Given the description of an element on the screen output the (x, y) to click on. 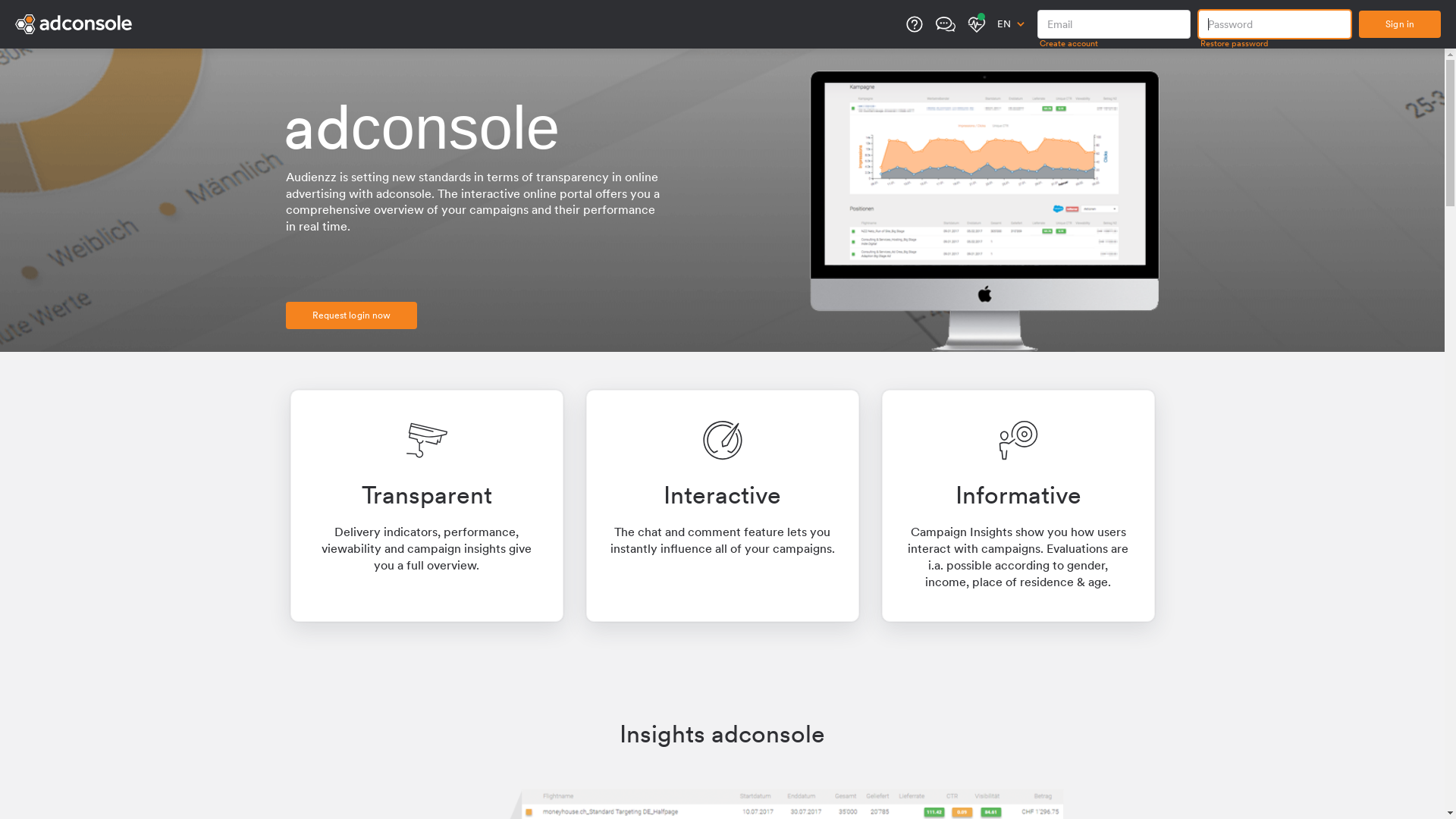
All Systems Operational Element type: text (1395, 801)
Sign in Element type: text (1399, 23)
